Given the description of an element on the screen output the (x, y) to click on. 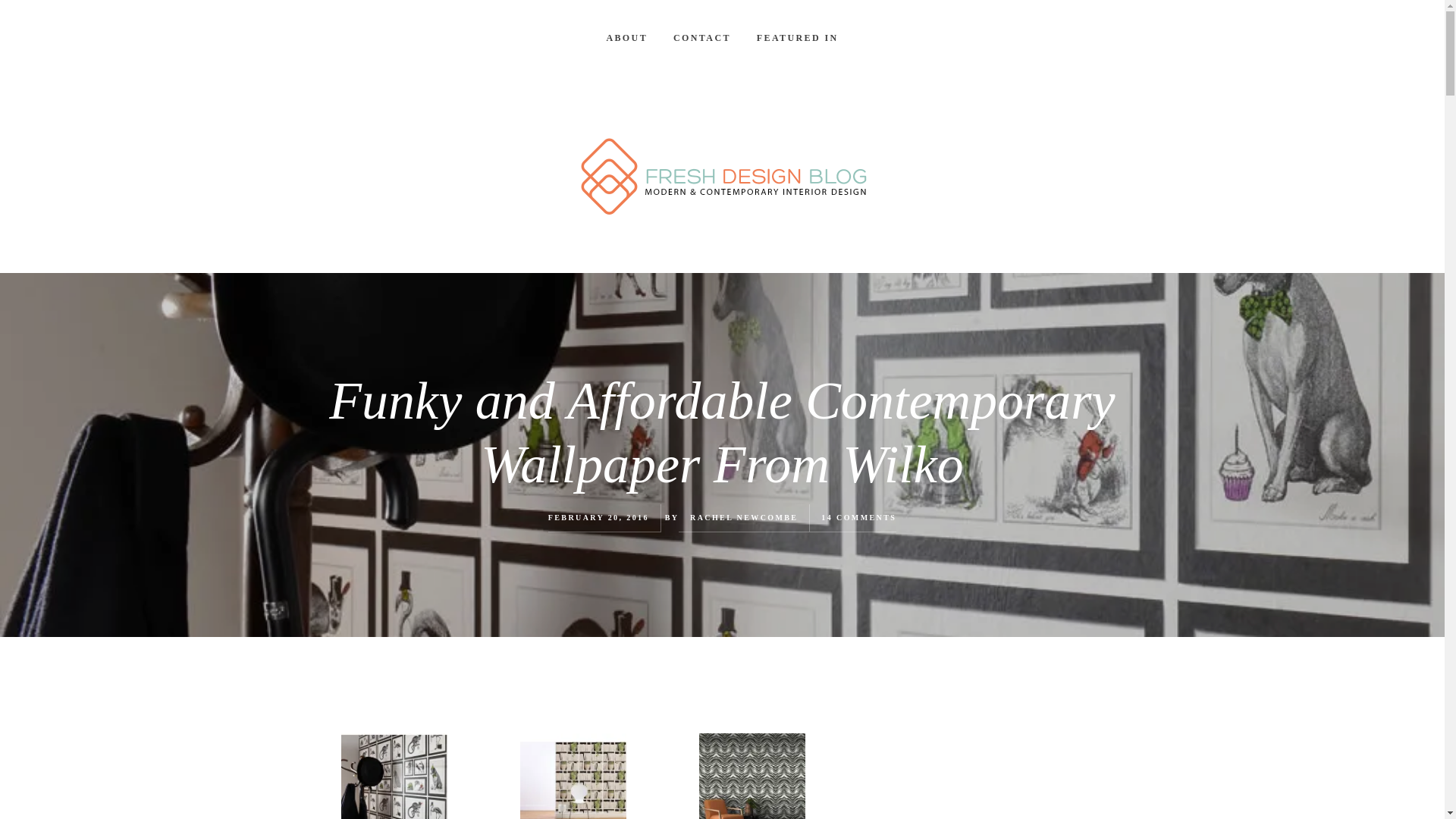
CONTACT (702, 38)
14 COMMENTS (858, 517)
Fresh Design Blog (721, 177)
RACHEL NEWCOMBE (743, 517)
FEATURED IN (797, 38)
